Given the description of an element on the screen output the (x, y) to click on. 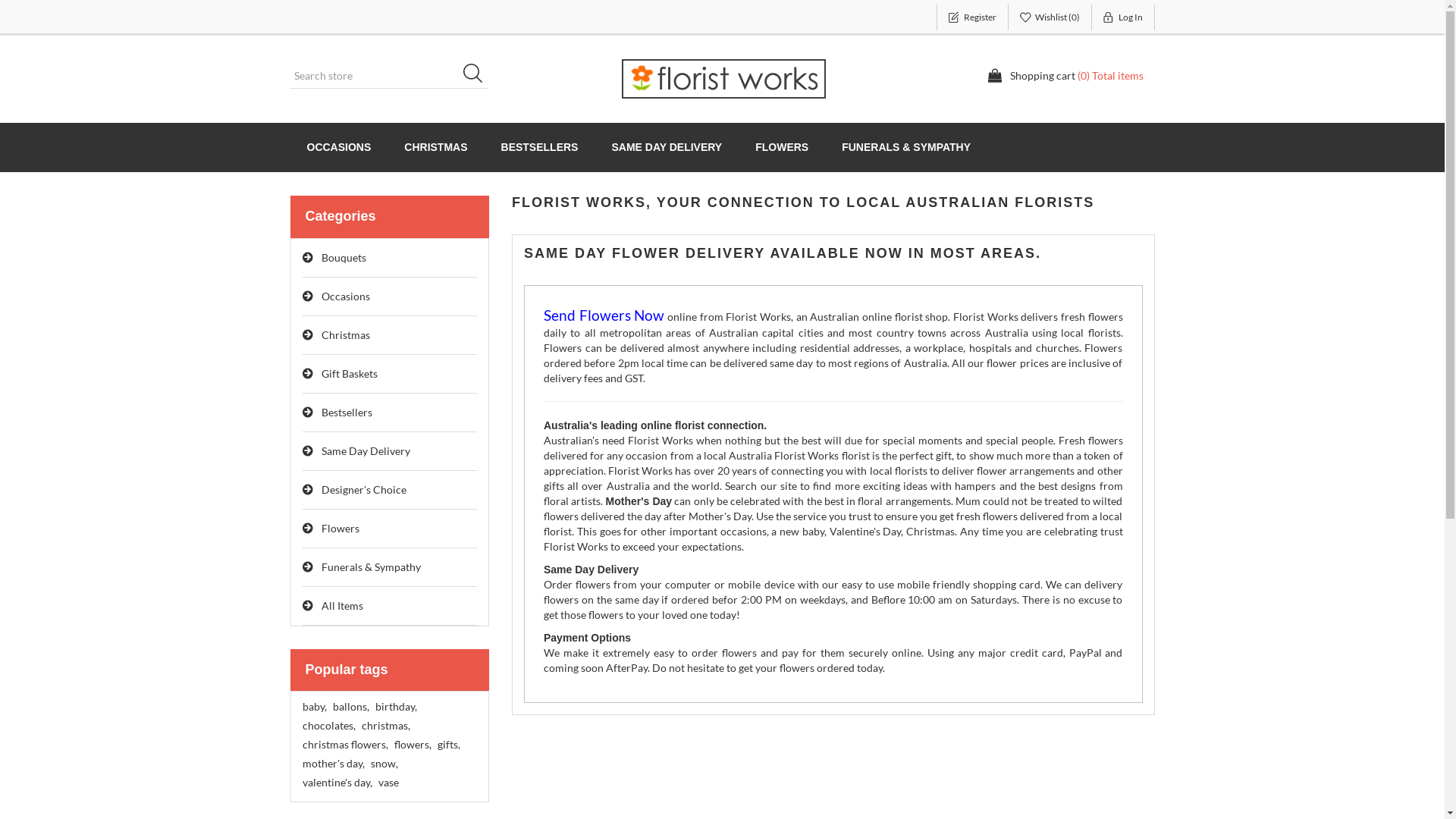
christmas, Element type: text (384, 725)
FLOWERS Element type: text (781, 147)
Christmas Element type: text (388, 335)
gifts, Element type: text (447, 744)
Register Element type: text (971, 17)
Log In Element type: text (1123, 17)
BESTSELLERS Element type: text (539, 147)
Same Day Delivery Element type: text (388, 451)
flowers, Element type: text (412, 744)
baby, Element type: text (313, 706)
Wishlist (0) Element type: text (1050, 17)
Gift Baskets Element type: text (388, 373)
christmas flowers, Element type: text (344, 744)
Designer's Choice Element type: text (388, 489)
SAME DAY DELIVERY Element type: text (666, 147)
CHRISTMAS Element type: text (435, 147)
vase Element type: text (387, 782)
Bestsellers Element type: text (388, 412)
ballons, Element type: text (350, 706)
All Items Element type: text (388, 605)
valentine's day, Element type: text (336, 782)
Occasions Element type: text (388, 296)
Shopping cart (0) Total items Element type: text (1065, 75)
mother's day, Element type: text (332, 763)
Flowers Element type: text (388, 528)
birthday, Element type: text (395, 706)
Bouquets Element type: text (388, 257)
chocolates, Element type: text (327, 725)
Send Flowers Now Element type: text (603, 316)
FUNERALS & SYMPATHY Element type: text (906, 147)
Funerals & Sympathy Element type: text (388, 567)
OCCASIONS Element type: text (338, 147)
snow, Element type: text (383, 763)
